Given the description of an element on the screen output the (x, y) to click on. 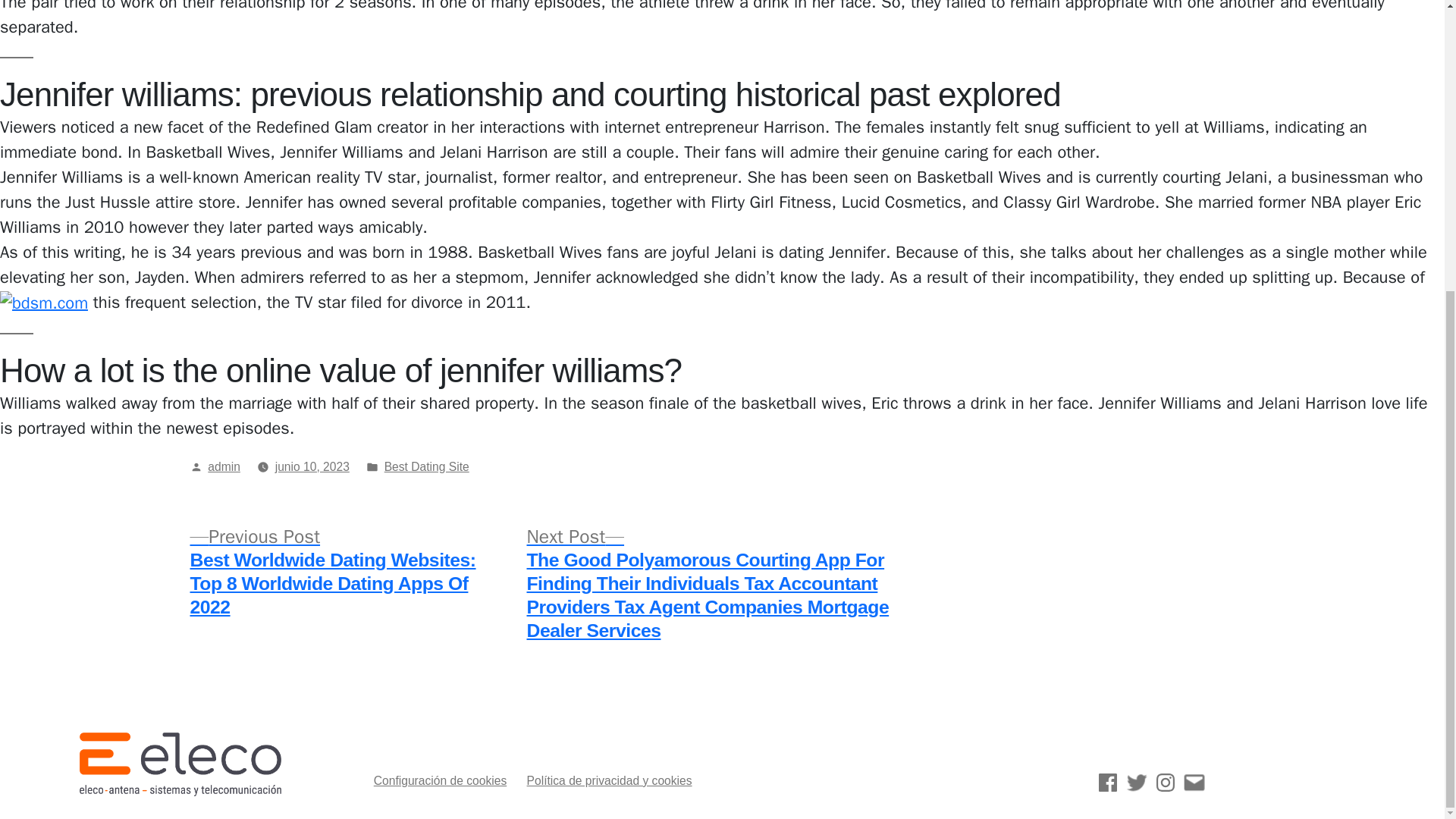
Twitter (1136, 782)
Instagram (1165, 782)
junio 10, 2023 (312, 466)
Facebook (1107, 782)
admin (224, 466)
Best Dating Site (426, 466)
